Given the description of an element on the screen output the (x, y) to click on. 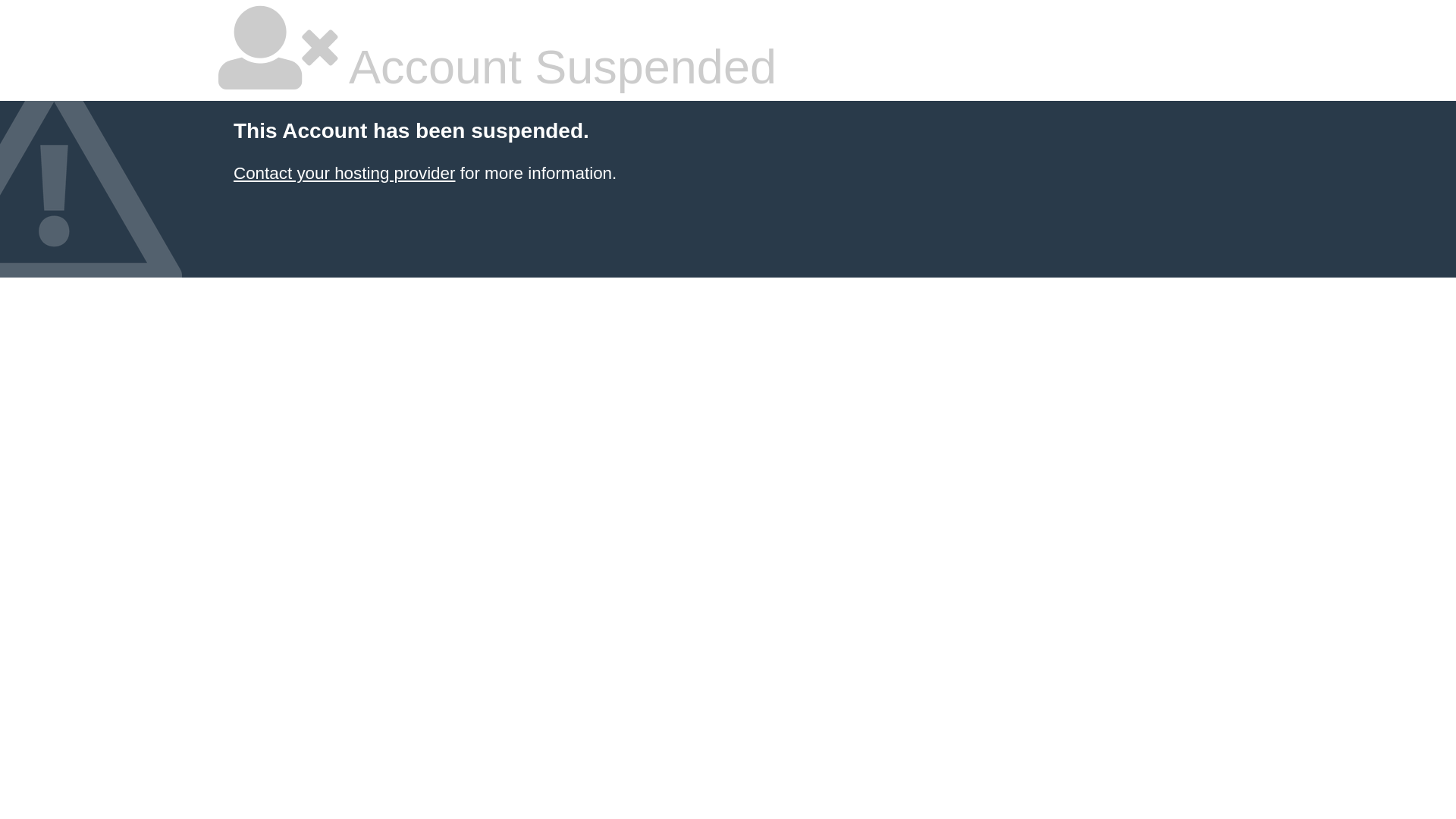
Contact your hosting provider Element type: text (344, 172)
